Given the description of an element on the screen output the (x, y) to click on. 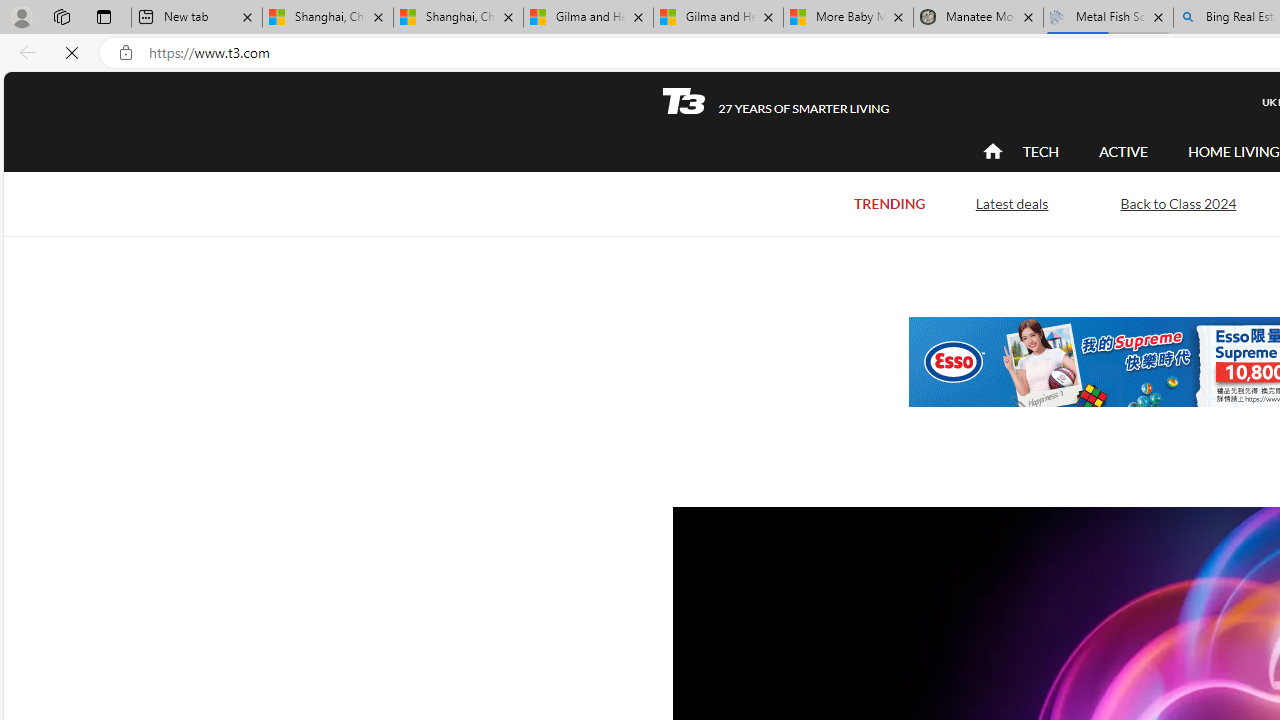
HOME LIVING (1233, 151)
Latest deals (1011, 202)
T3 (683, 100)
Back to Class 2024 (1178, 202)
TECH (1040, 151)
ACTIVE (1124, 151)
T3 27 YEARS OF SMARTER LIVING (775, 101)
